Given the description of an element on the screen output the (x, y) to click on. 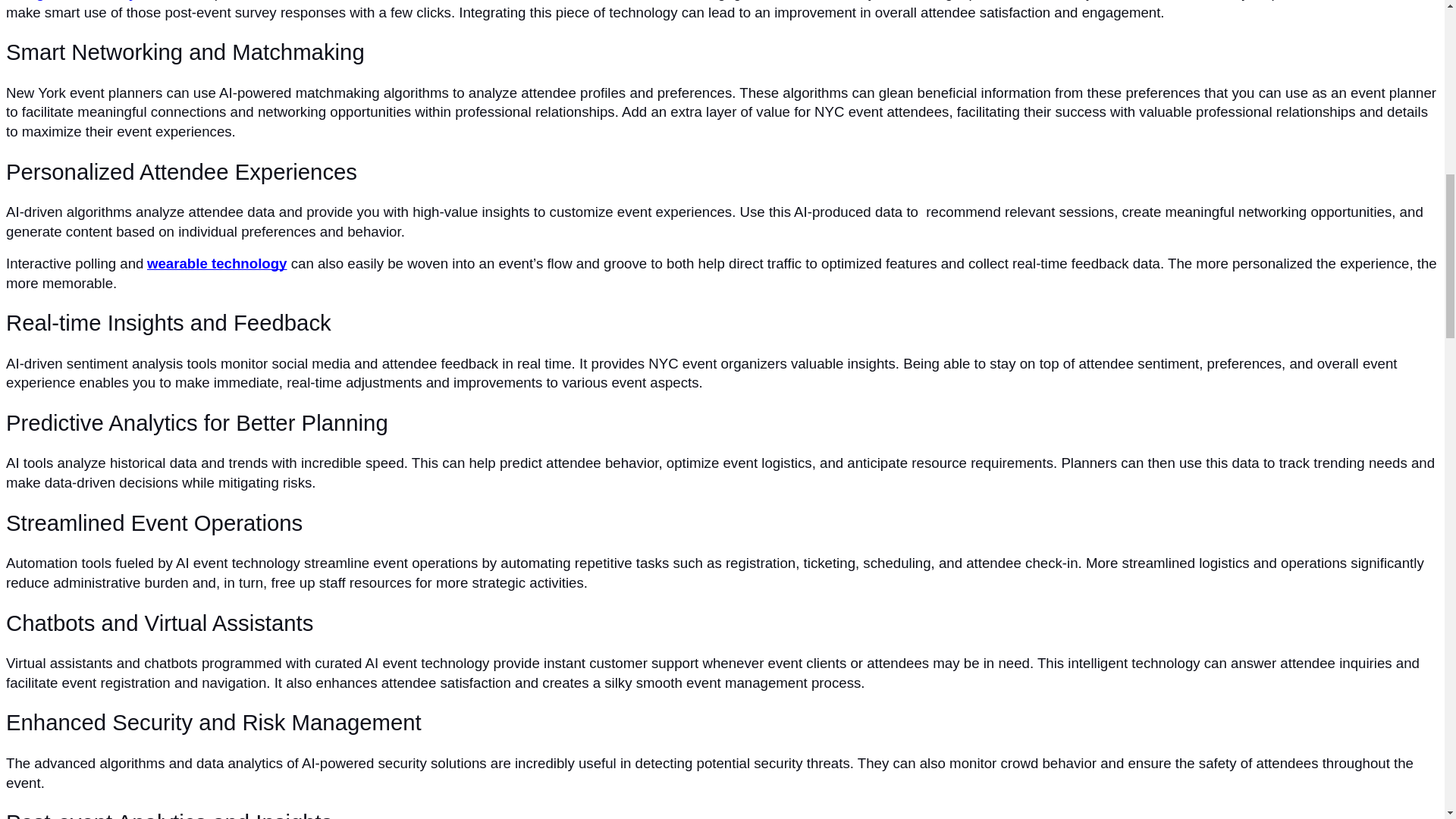
wearable technology (215, 264)
